Given the description of an element on the screen output the (x, y) to click on. 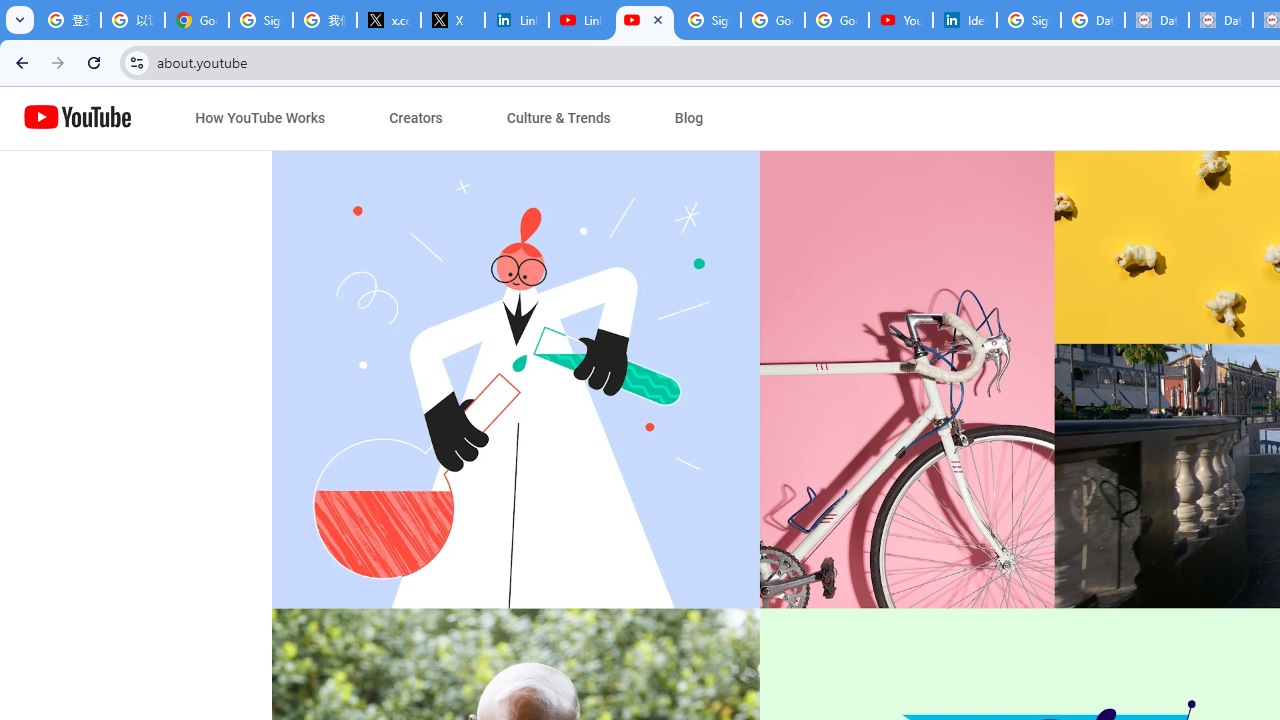
Jump to content (186, 119)
Sign in - Google Accounts (709, 20)
